Given the description of an element on the screen output the (x, y) to click on. 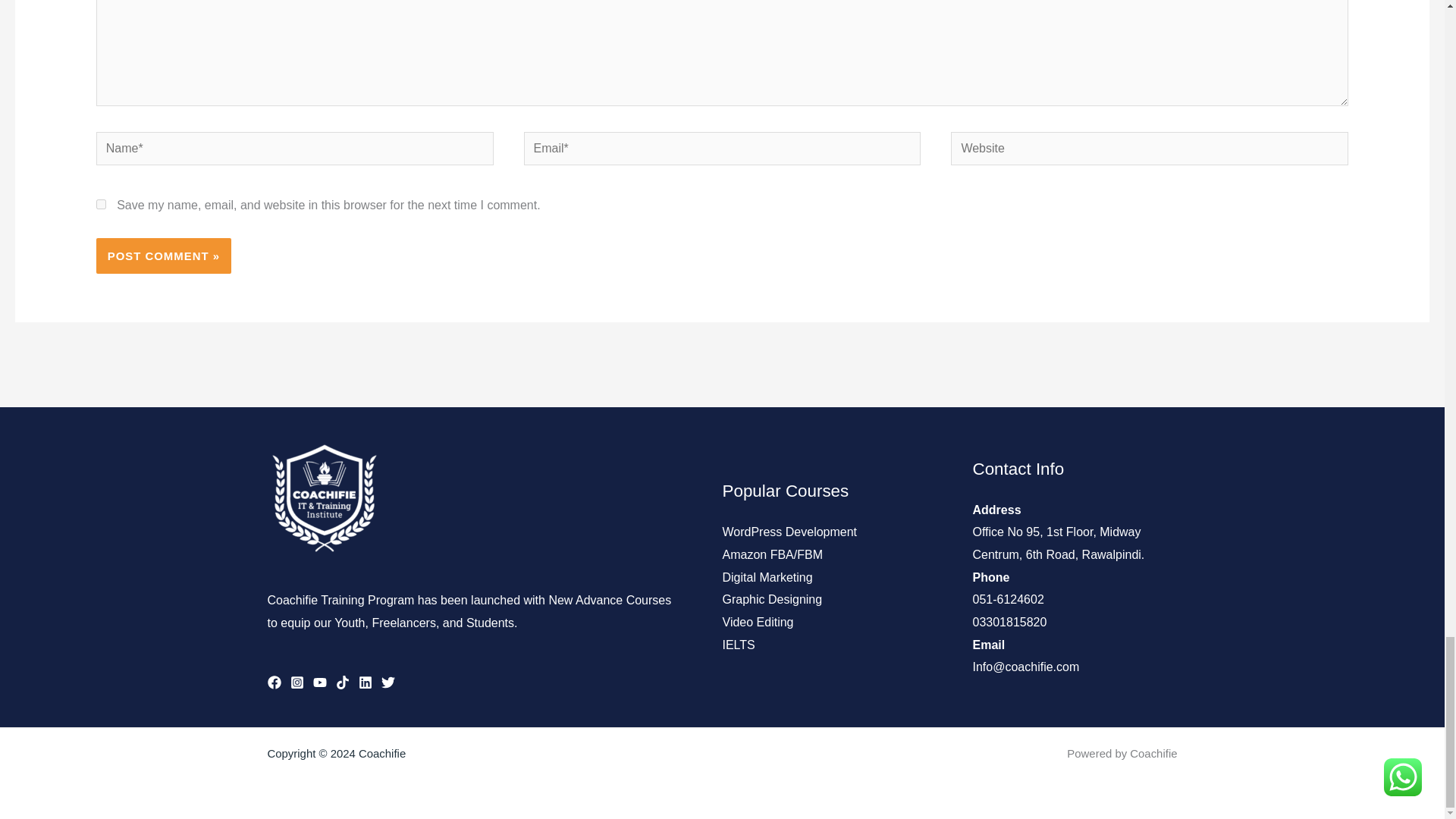
yes (101, 204)
